Given the description of an element on the screen output the (x, y) to click on. 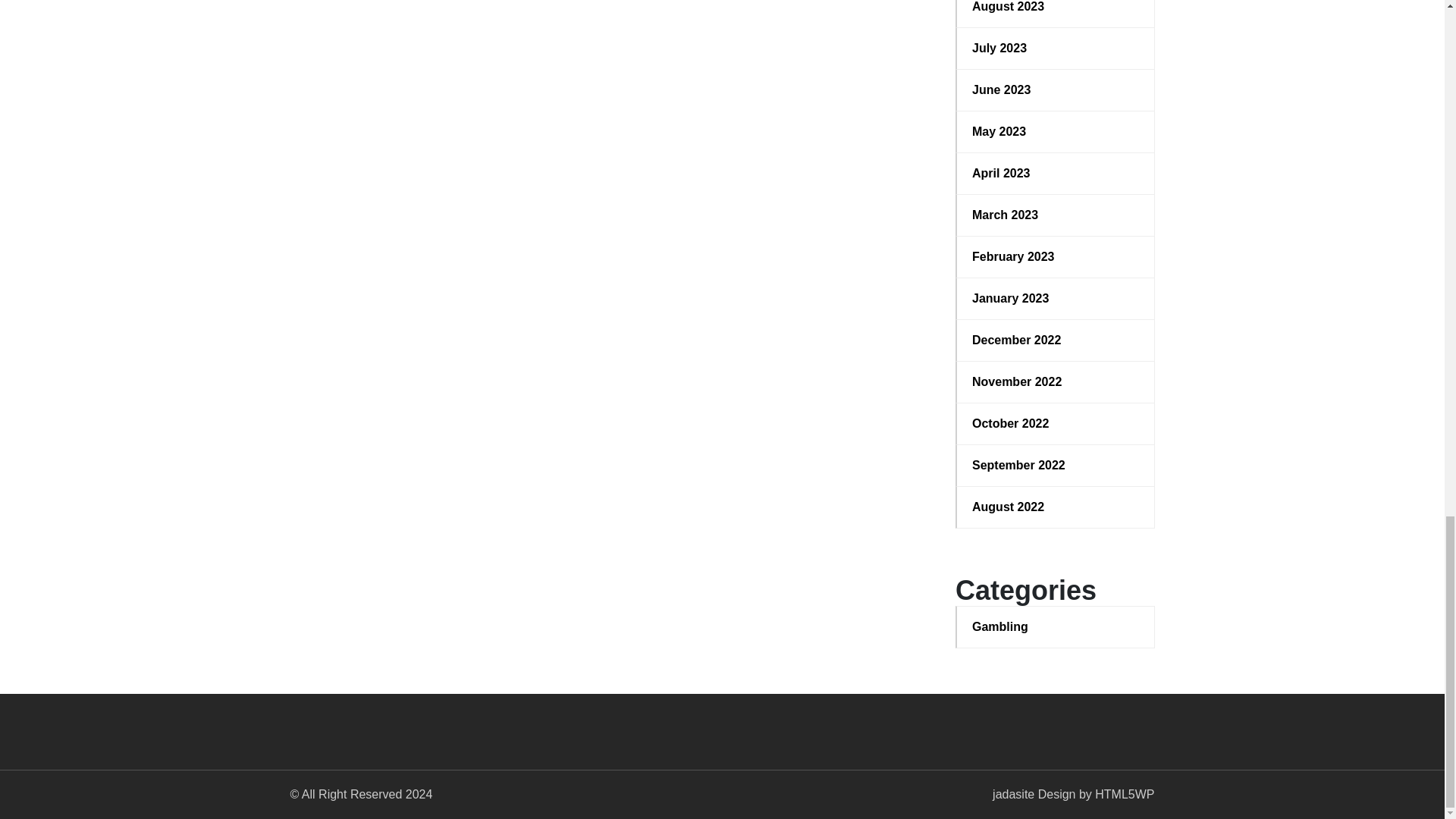
February 2023 (1055, 257)
August 2023 (1055, 7)
May 2023 (1055, 131)
August 2022 (1055, 506)
January 2023 (1055, 298)
July 2023 (1055, 48)
October 2022 (1055, 423)
November 2022 (1055, 382)
April 2023 (1055, 173)
June 2023 (1055, 90)
December 2022 (1055, 340)
September 2022 (1055, 465)
March 2023 (1055, 215)
